Given the description of an element on the screen output the (x, y) to click on. 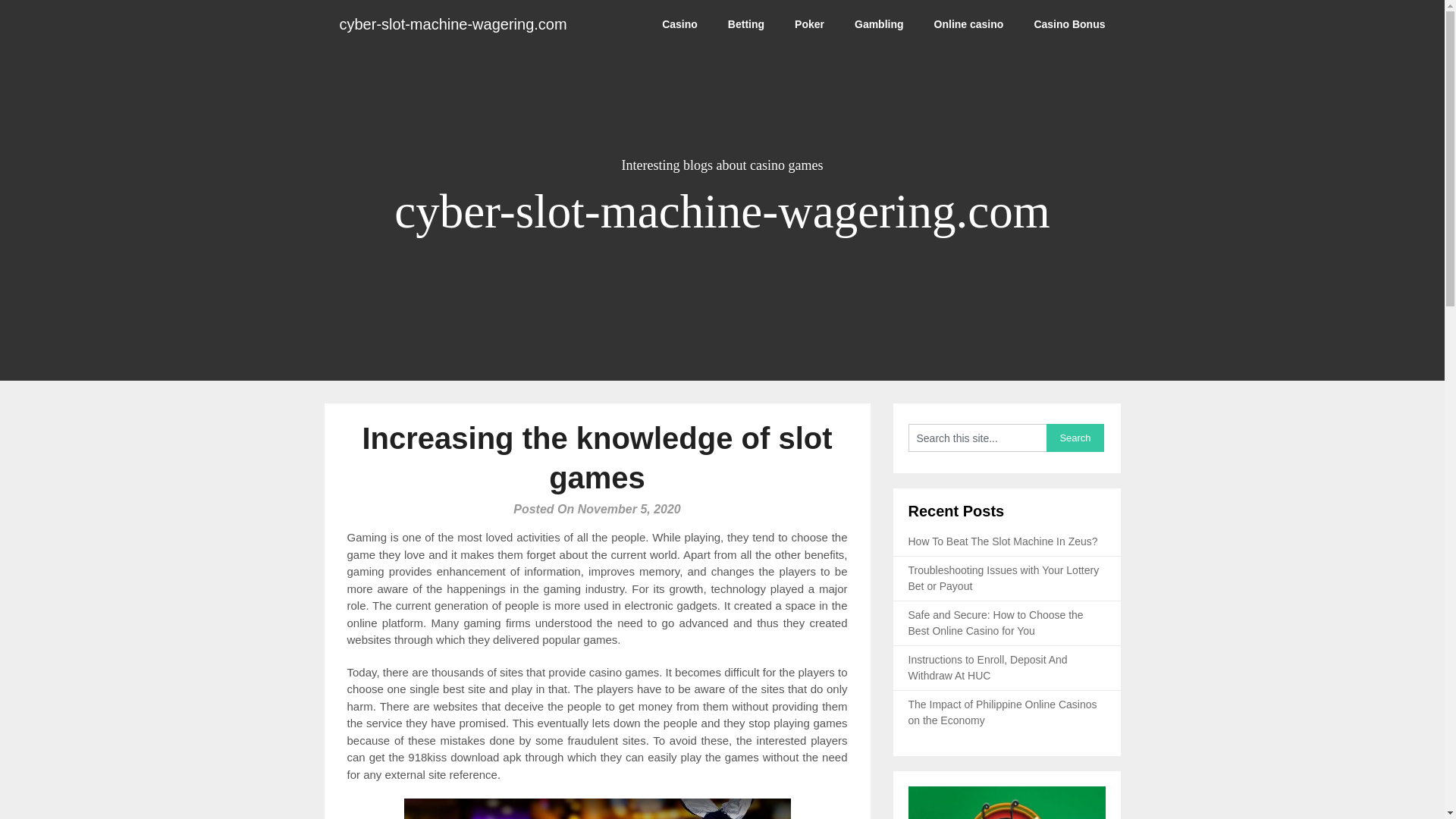
Play gambling games (596, 808)
Casino Bonus (1068, 24)
cyber-slot-machine-wagering.com (453, 24)
Betting (745, 24)
Gambling (879, 24)
Instructions to Enroll, Deposit And Withdraw At HUC (987, 667)
Casino (679, 24)
Online casino (968, 24)
Search this site... (977, 438)
Search (1075, 438)
Search (1075, 438)
Troubleshooting Issues with Your Lottery Bet or Payout (1003, 578)
The Impact of Philippine Online Casinos on the Economy (1002, 712)
How To Beat The Slot Machine In Zeus? (1002, 541)
